Given the description of an element on the screen output the (x, y) to click on. 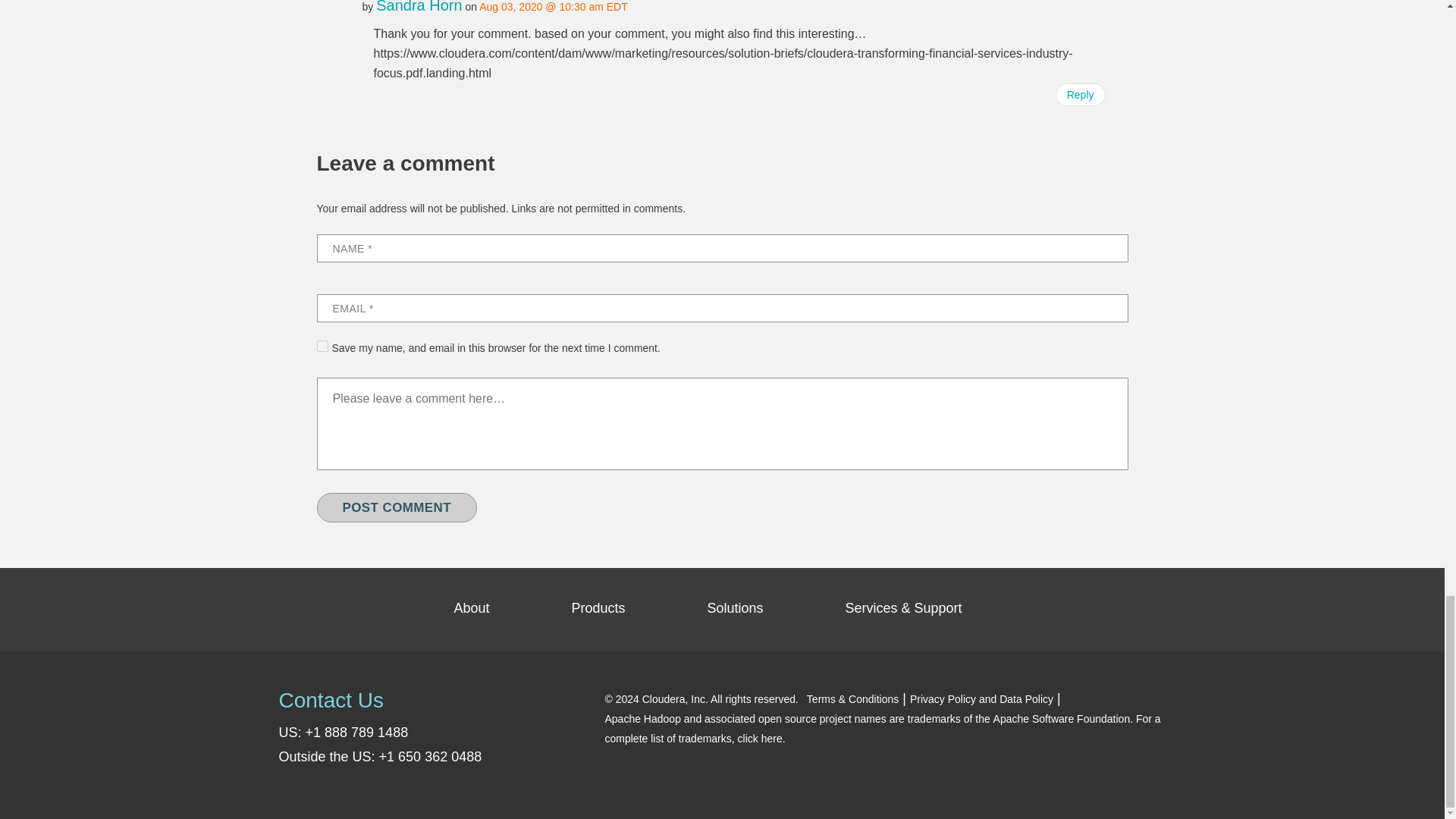
Post Comment (397, 507)
yes (323, 346)
